Given the description of an element on the screen output the (x, y) to click on. 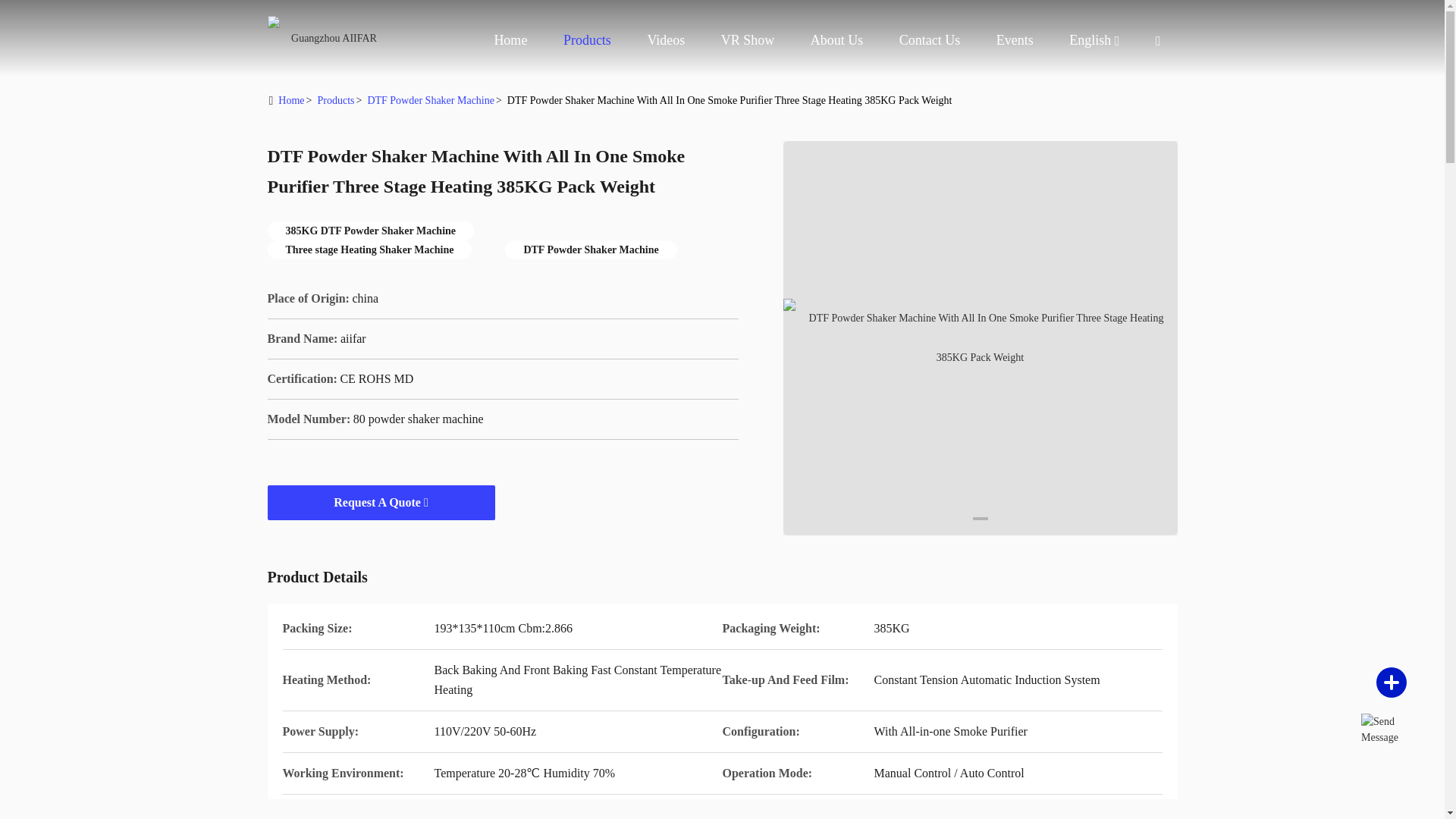
Home (327, 37)
About Us (836, 40)
Contact Us (929, 40)
Products (587, 40)
VR Show (747, 40)
Products (587, 40)
